Given the description of an element on the screen output the (x, y) to click on. 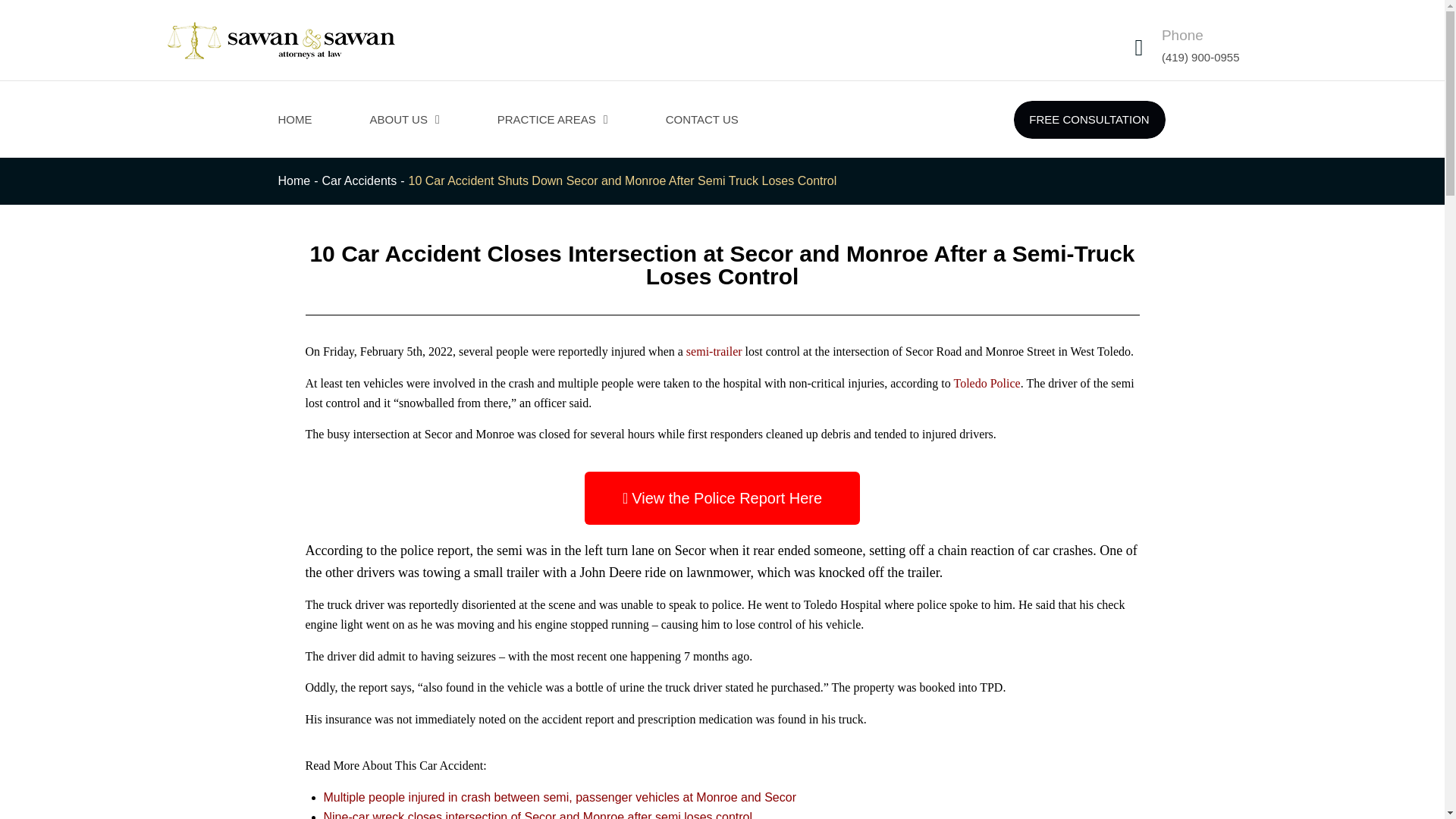
FREE CONSULTATION (1088, 119)
Car Accidents (359, 181)
Toledo Police (986, 382)
HOME (293, 119)
View the Police Report Here (722, 497)
semi-trailer (713, 350)
Car Accidents (359, 181)
PRACTICE AREAS (552, 119)
CONTACT US (702, 119)
